Given the description of an element on the screen output the (x, y) to click on. 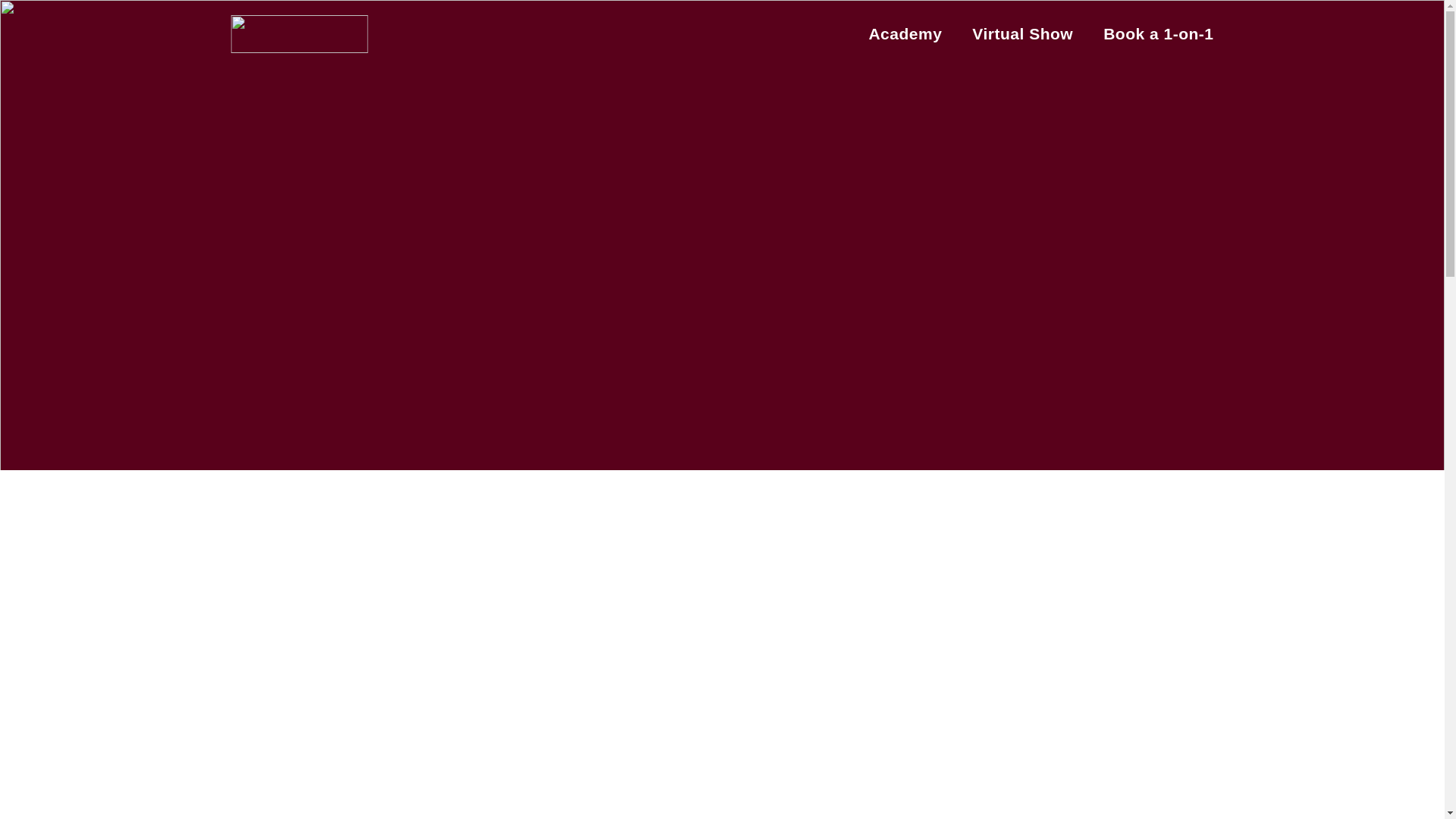
Academy (904, 33)
Virtual Show (1022, 33)
Book a 1-on-1 (1157, 33)
